Given the description of an element on the screen output the (x, y) to click on. 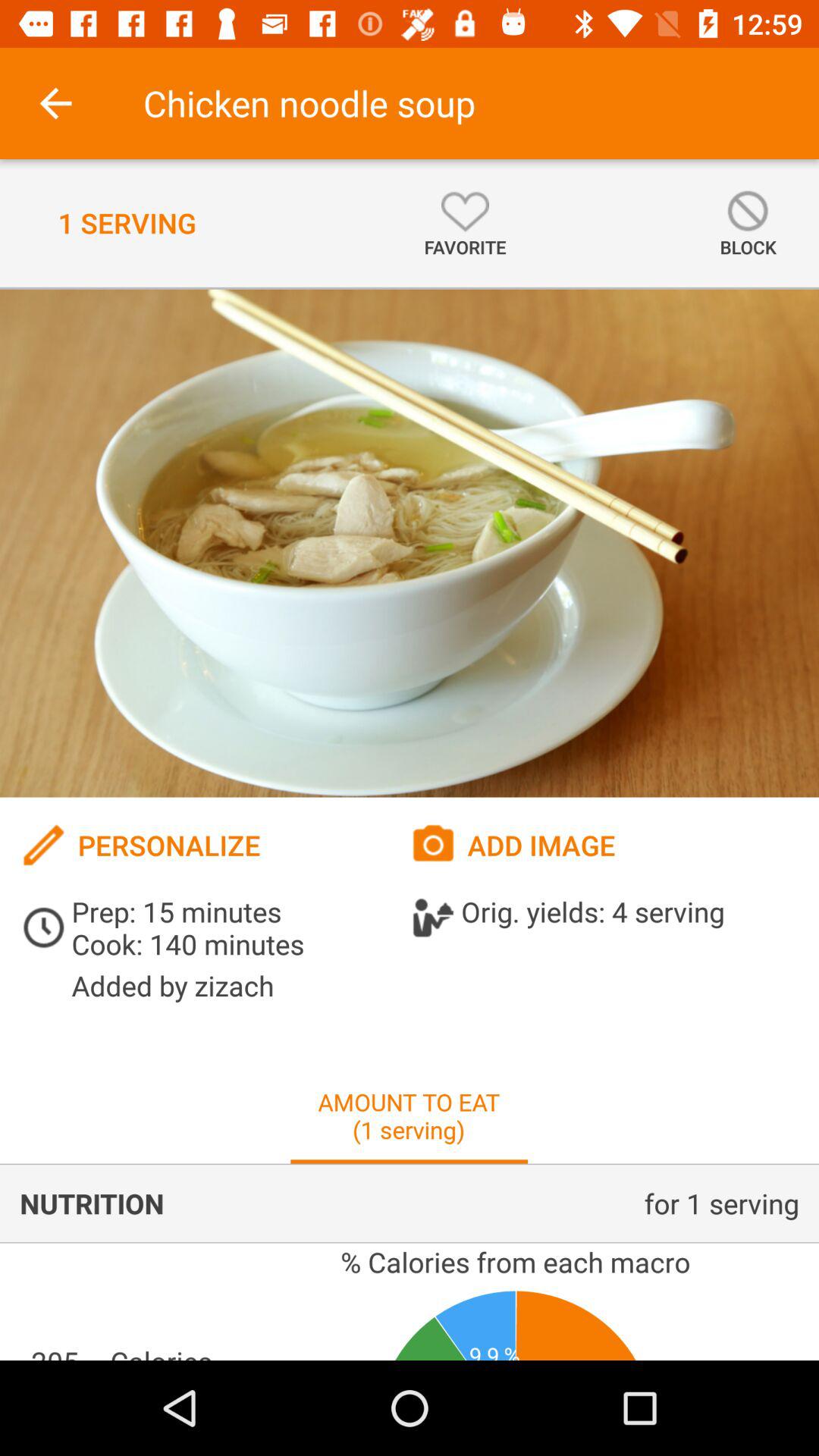
turn off the icon to the left of block icon (464, 223)
